Given the description of an element on the screen output the (x, y) to click on. 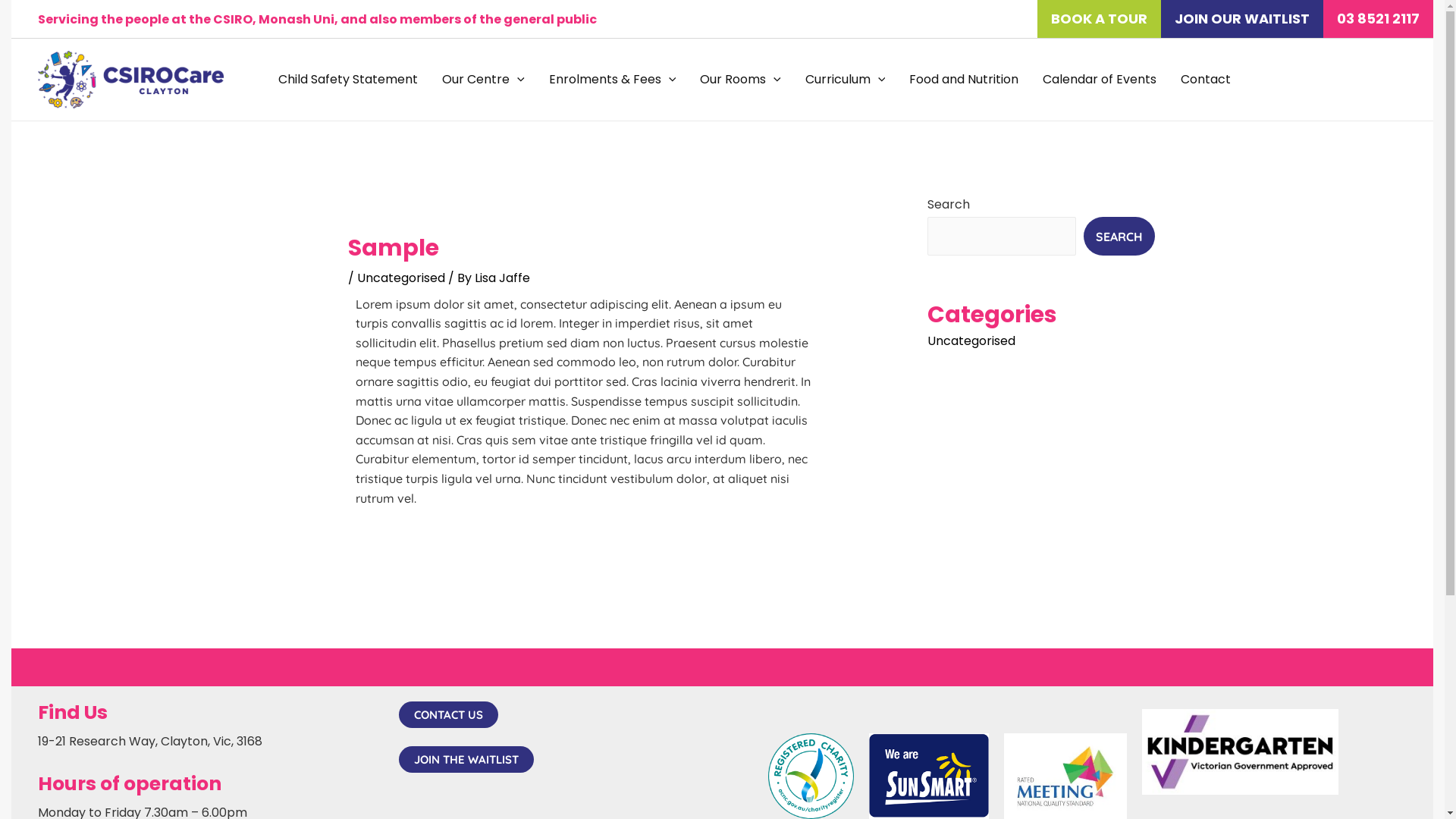
Our Rooms Element type: text (740, 79)
Enrolments & Fees Element type: text (612, 79)
Child Safety Statement Element type: text (347, 79)
BOOK A TOUR Element type: text (1099, 18)
Our Centre Element type: text (482, 79)
Contact Element type: text (1205, 79)
SEARCH Element type: text (1118, 235)
Curriculum Element type: text (845, 79)
Uncategorised Element type: text (970, 340)
Uncategorised Element type: text (401, 277)
Food and Nutrition Element type: text (963, 79)
Lisa Jaffe Element type: text (502, 277)
03 8521 2117 Element type: text (1378, 18)
JOIN OUR WAITLIST Element type: text (1242, 18)
Calendar of Events Element type: text (1099, 79)
JOIN THE WAITLIST Element type: text (465, 759)
CONTACT US Element type: text (448, 714)
